Given the description of an element on the screen output the (x, y) to click on. 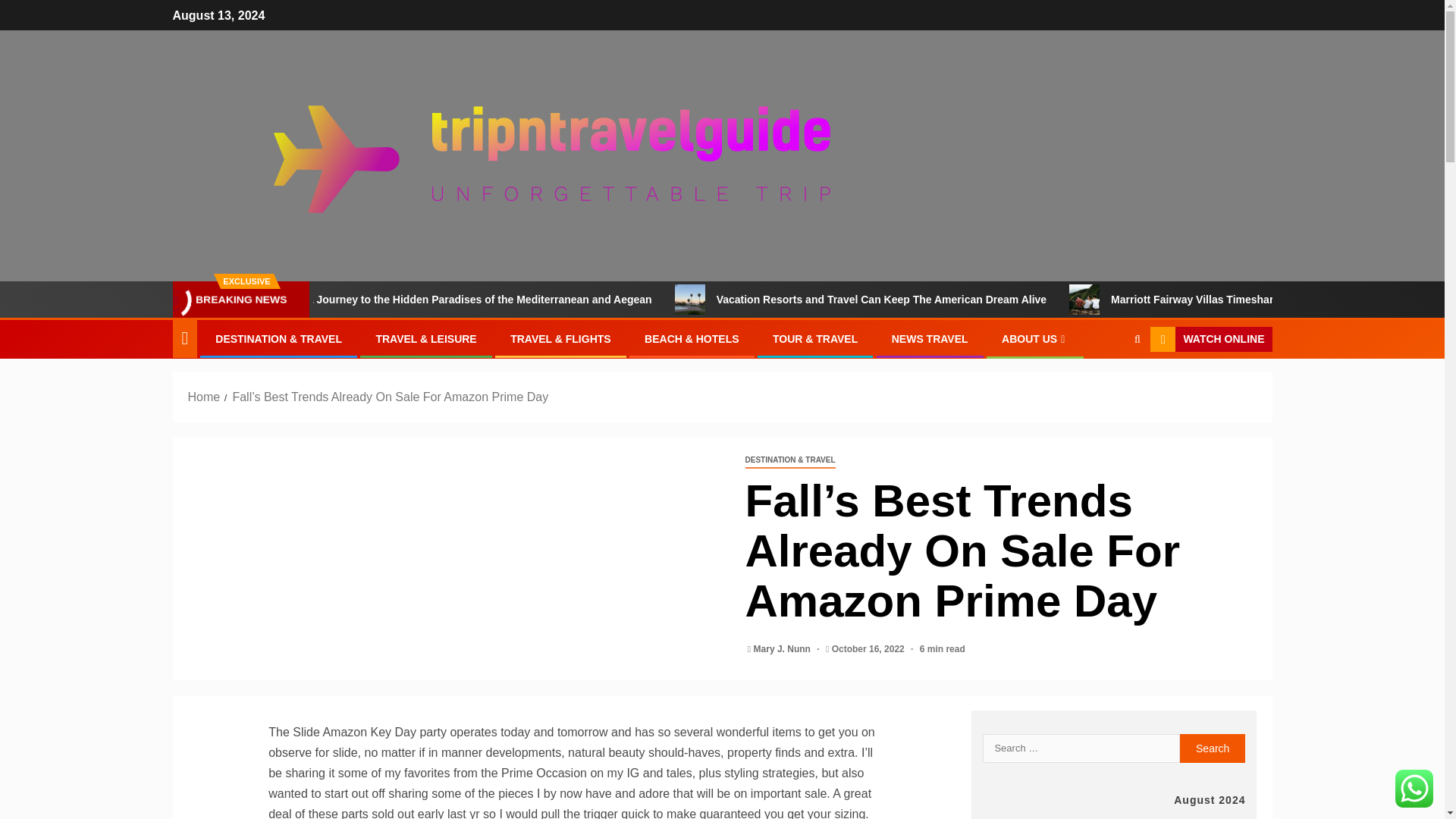
Search (1107, 385)
NEWS TRAVEL (929, 338)
Mary J. Nunn (783, 648)
WATCH ONLINE (1210, 339)
ABOUT US (1034, 338)
Search (1212, 747)
Home (204, 396)
